Given the description of an element on the screen output the (x, y) to click on. 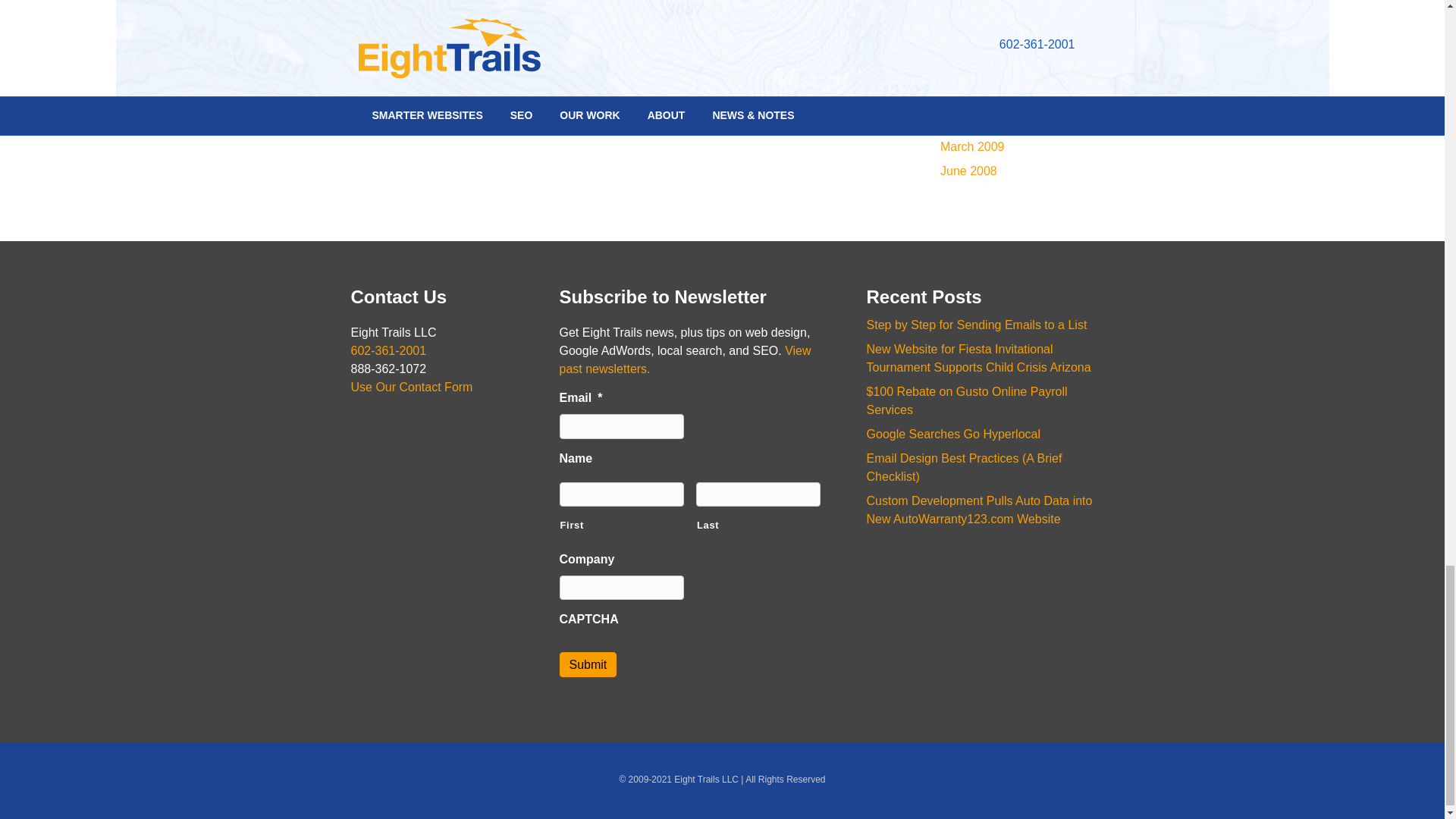
Submit (588, 664)
View previous campaigns (684, 359)
